Given the description of an element on the screen output the (x, y) to click on. 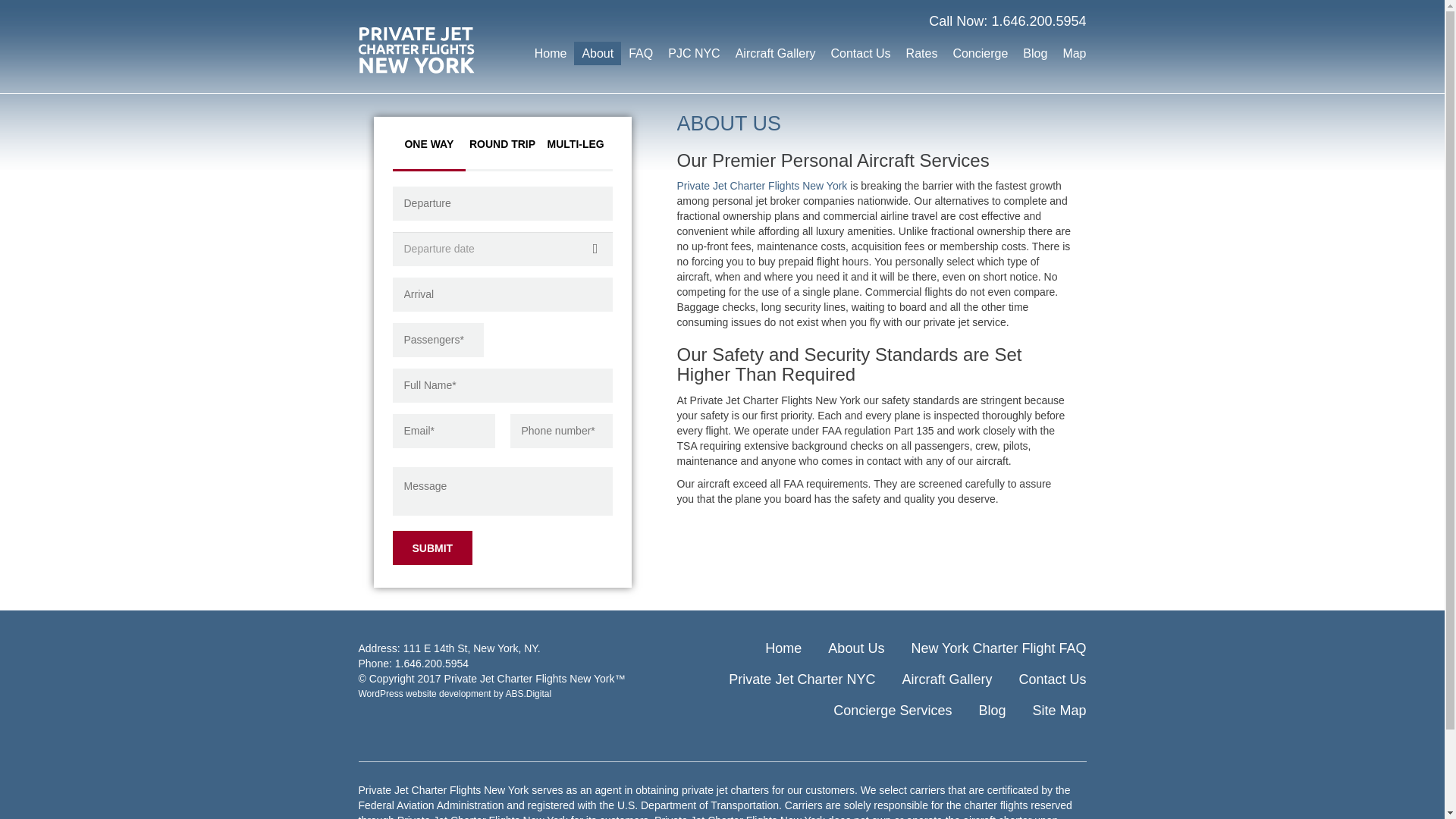
FAQ (641, 53)
PJC NYC (693, 53)
Private Jet Charter NYC (802, 679)
Site Map (1059, 710)
Aircraft Gallery (946, 679)
New York Charter Flight FAQ (998, 648)
Aircraft Gallery (776, 53)
Blog (992, 710)
ONE WAY (429, 144)
Blog (1034, 53)
